Given the description of an element on the screen output the (x, y) to click on. 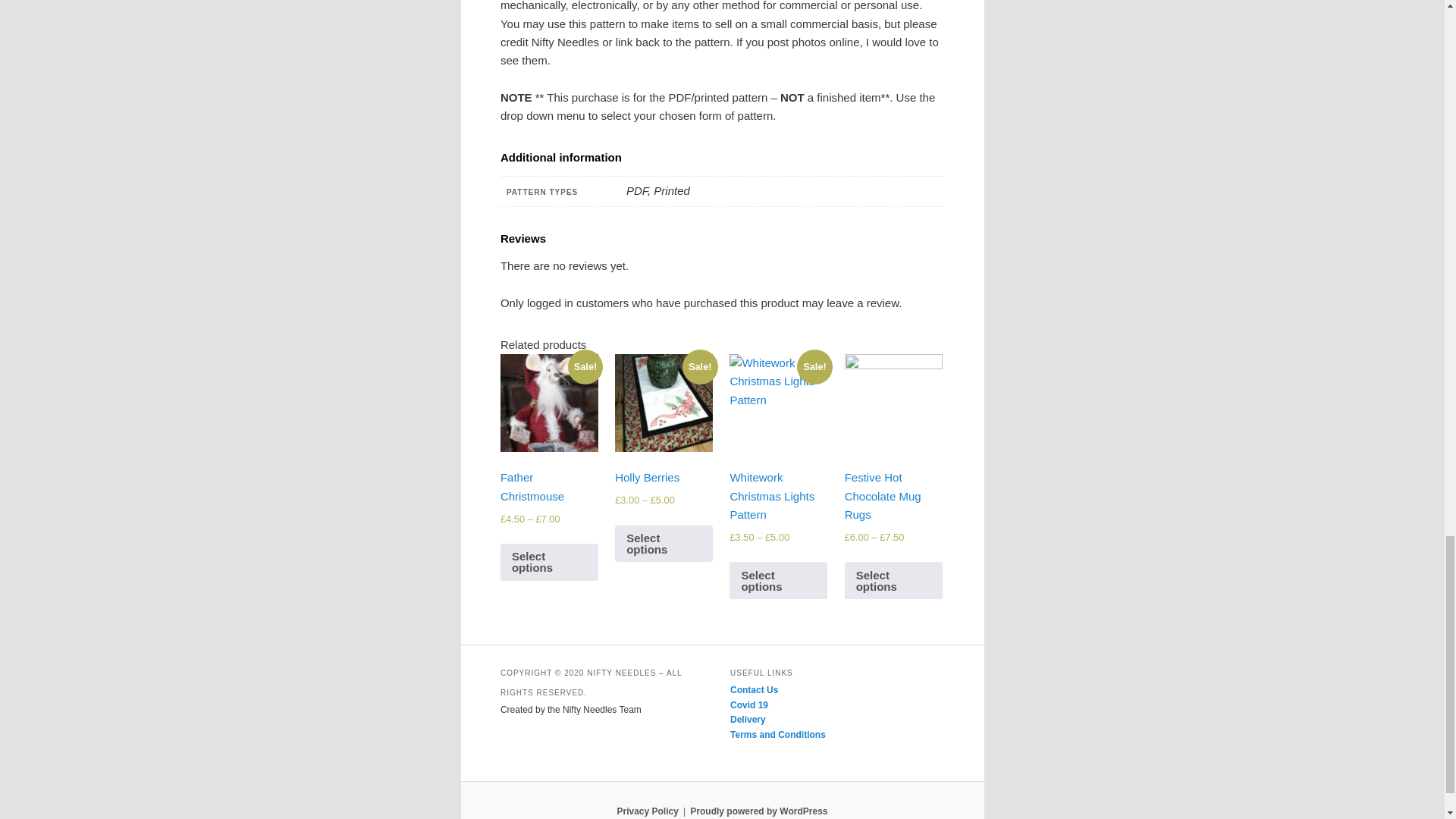
Semantic Personal Publishing Platform (758, 810)
